Given the description of an element on the screen output the (x, y) to click on. 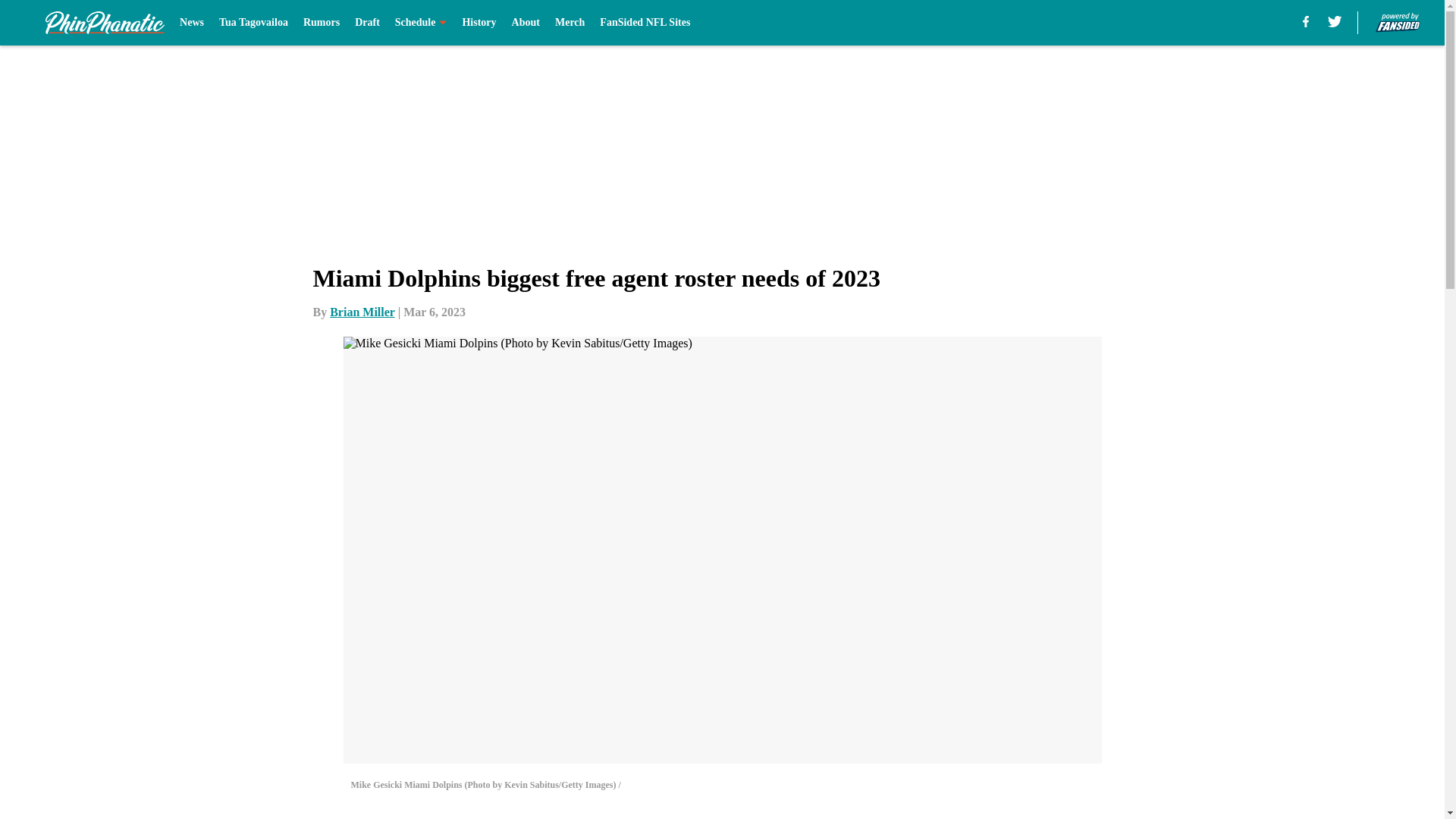
Draft (367, 22)
FanSided NFL Sites (644, 22)
Merch (569, 22)
News (191, 22)
About (526, 22)
Brian Miller (362, 311)
Rumors (320, 22)
History (478, 22)
Tua Tagovailoa (253, 22)
